Given the description of an element on the screen output the (x, y) to click on. 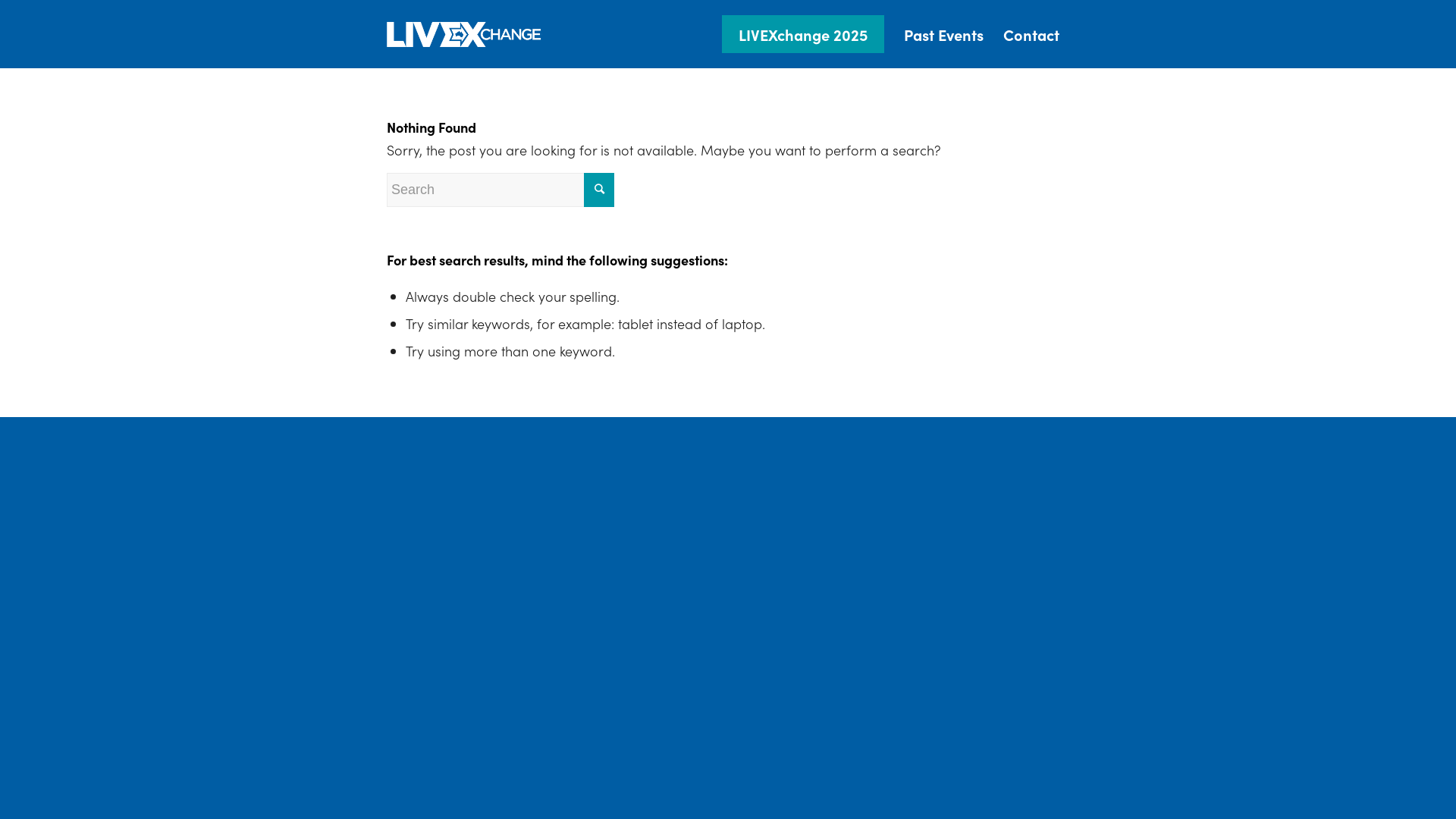
Past Events Element type: text (943, 34)
LIVEXchange 2025 Element type: text (803, 34)
Contact Element type: text (1031, 34)
